Given the description of an element on the screen output the (x, y) to click on. 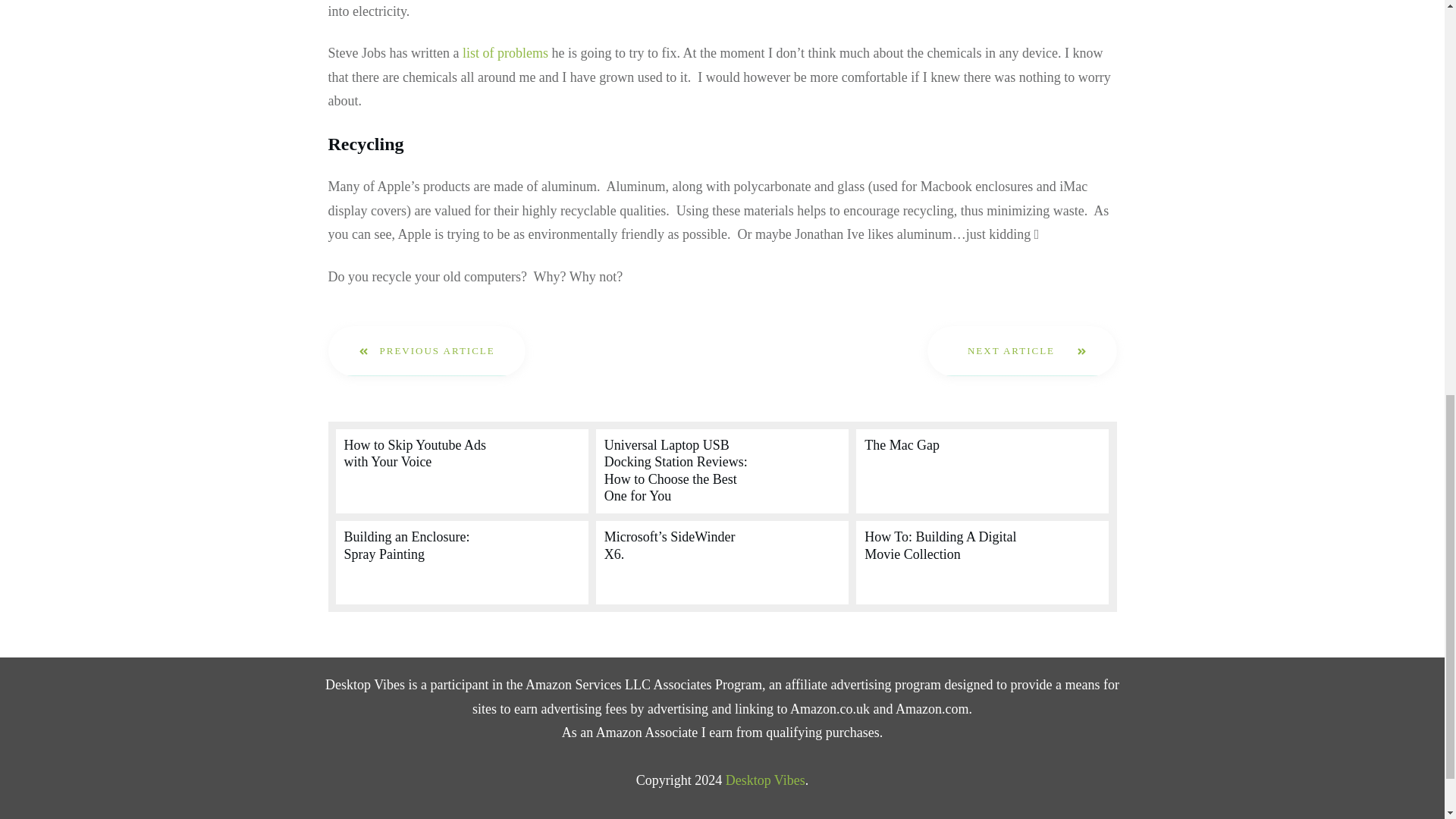
The Mac Gap (901, 444)
Building an Enclosure: Spray Painting (406, 545)
Building an Enclosure: Spray Painting (406, 545)
How to Skip Youtube Ads with Your Voice (461, 471)
The Mac Gap (901, 444)
list of problems (505, 52)
Building an Enclosure: Spray Painting (461, 562)
How to Skip Youtube Ads with Your Voice (414, 453)
PREVIOUS ARTICLE (425, 350)
How To: Building A Digital Movie Collection (940, 545)
How to Skip Youtube Ads with Your Voice (414, 453)
NEXT ARTICLE (1021, 350)
